Given the description of an element on the screen output the (x, y) to click on. 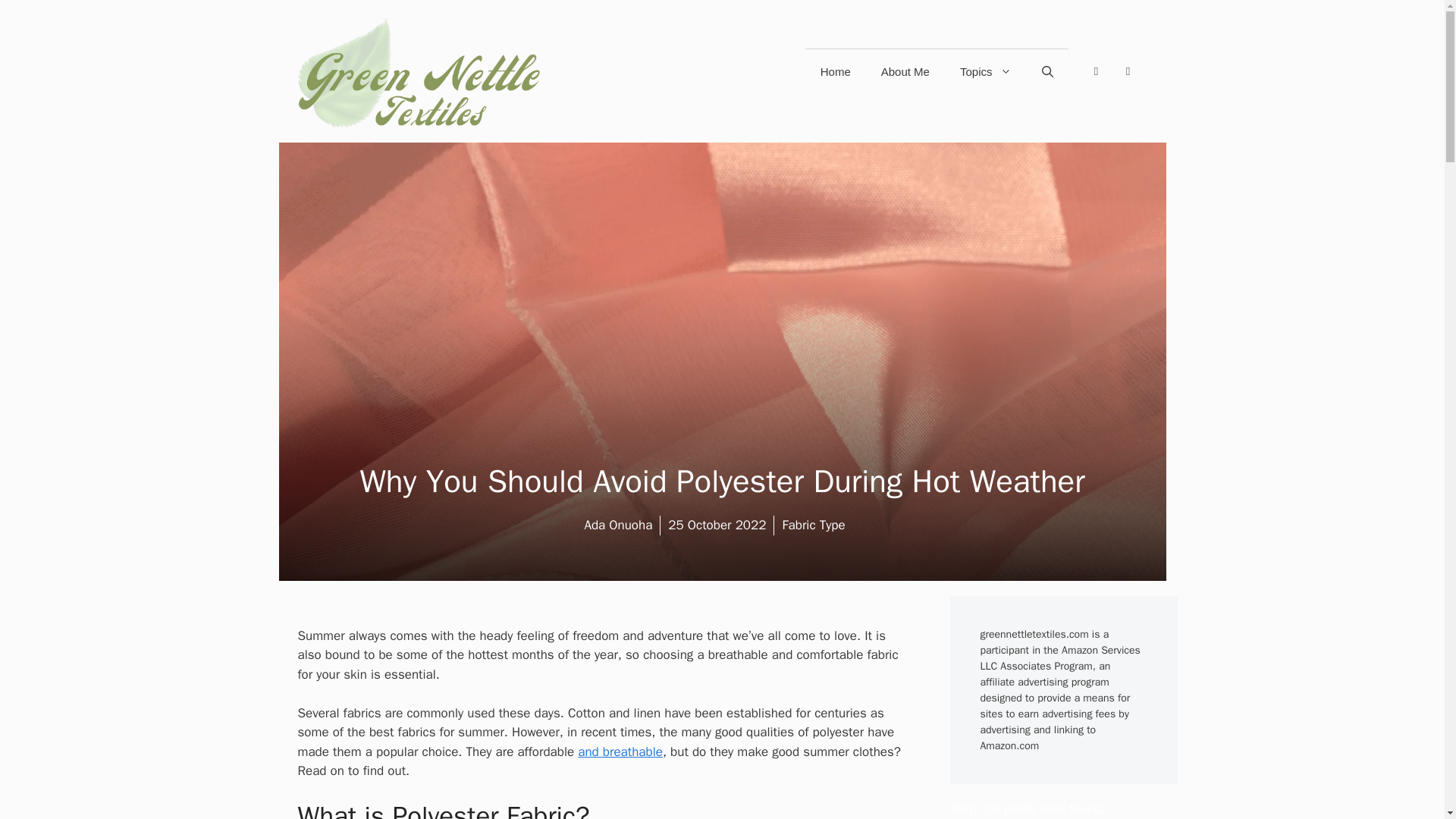
Green Nettle Textiles (418, 71)
About Me (905, 72)
Twitter (1127, 71)
Green Nettle Textiles (418, 70)
Home (835, 72)
and breathable (620, 751)
Topics (985, 72)
Facebook (1095, 71)
